Given the description of an element on the screen output the (x, y) to click on. 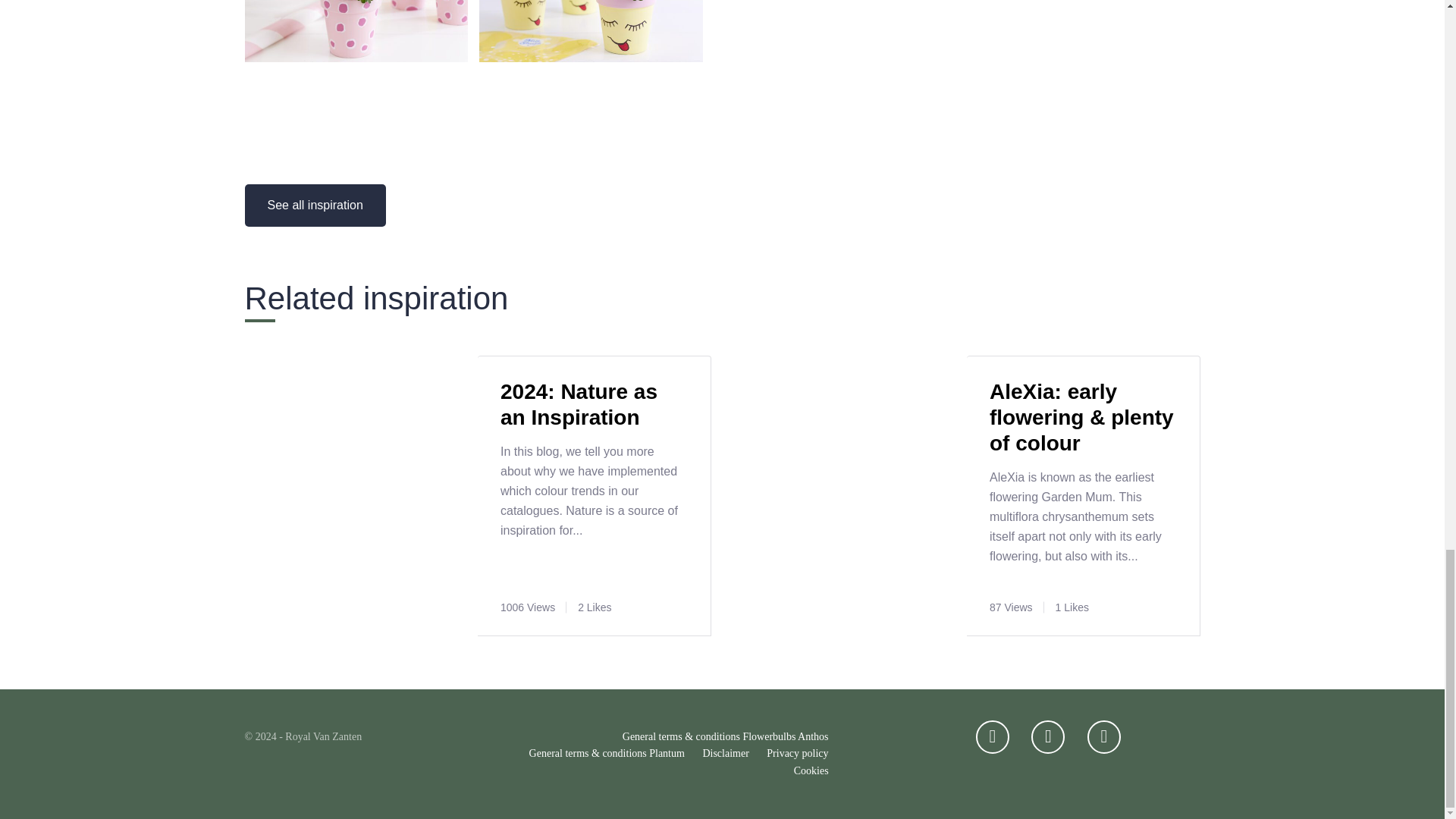
See all inspiration (314, 205)
Disclaimer (724, 753)
Milkshake-Banana-pot-2 (591, 57)
Milkshake-Raspberry-pot-1 (355, 57)
Cookies (810, 770)
Privacy policy (797, 753)
